Given the description of an element on the screen output the (x, y) to click on. 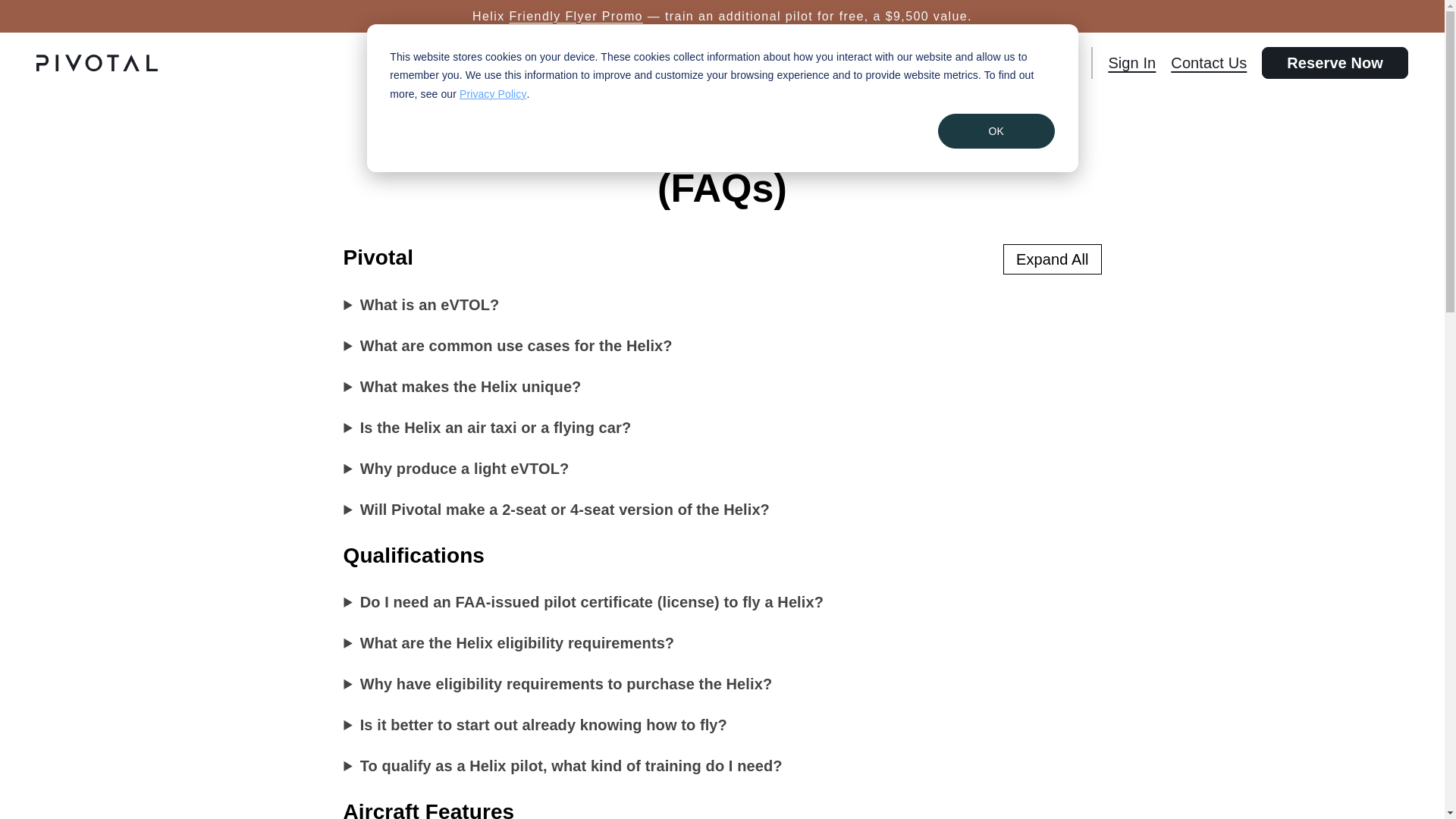
About (852, 62)
Reserve Now (1334, 62)
Careers (915, 62)
FAQ (1060, 62)
Newsroom (994, 62)
Friendly Flyer Promo (575, 15)
Contact Us (1208, 62)
Helix (799, 62)
Sign In (1132, 62)
